Given the description of an element on the screen output the (x, y) to click on. 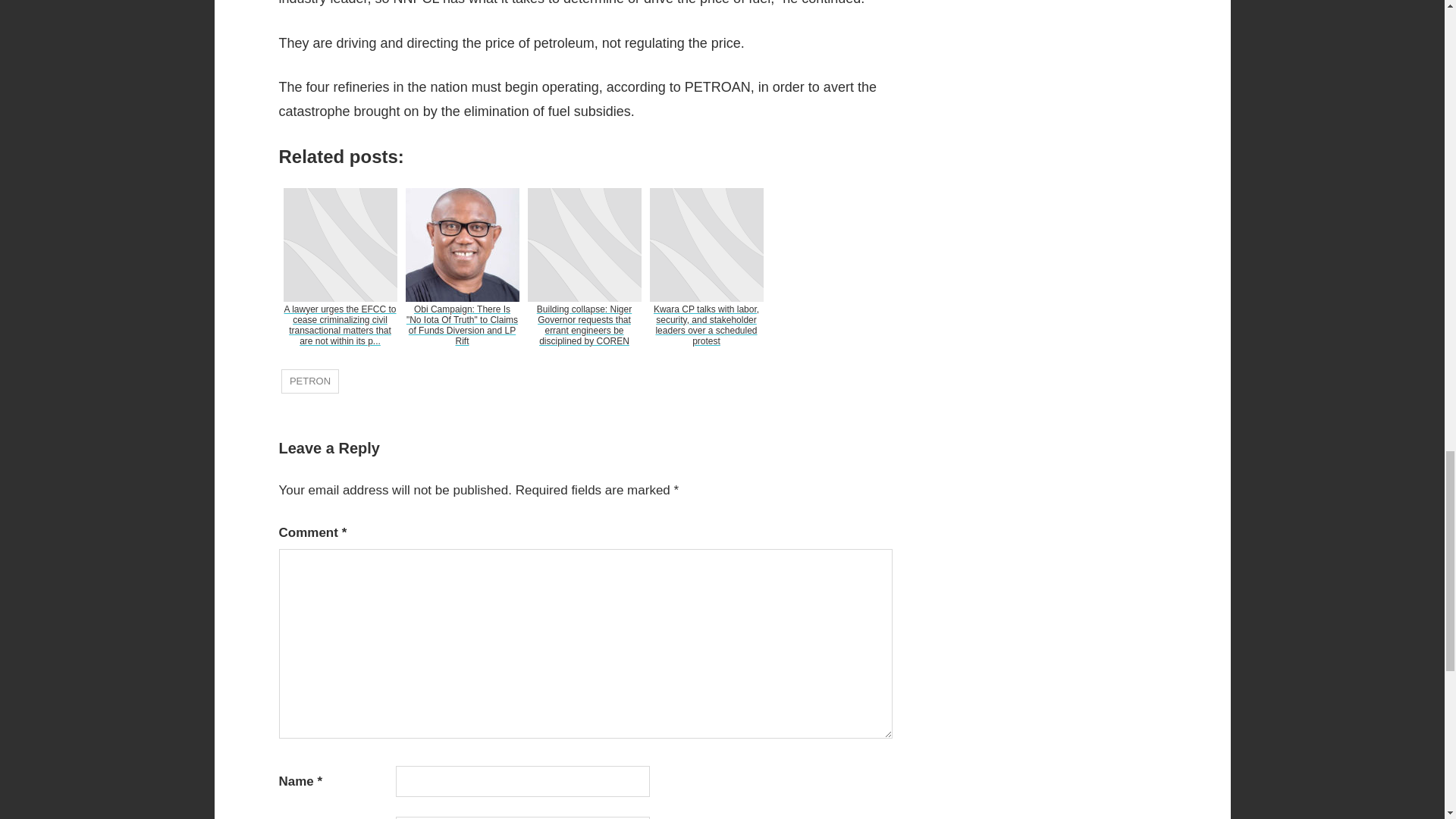
PETRON (310, 381)
